Given the description of an element on the screen output the (x, y) to click on. 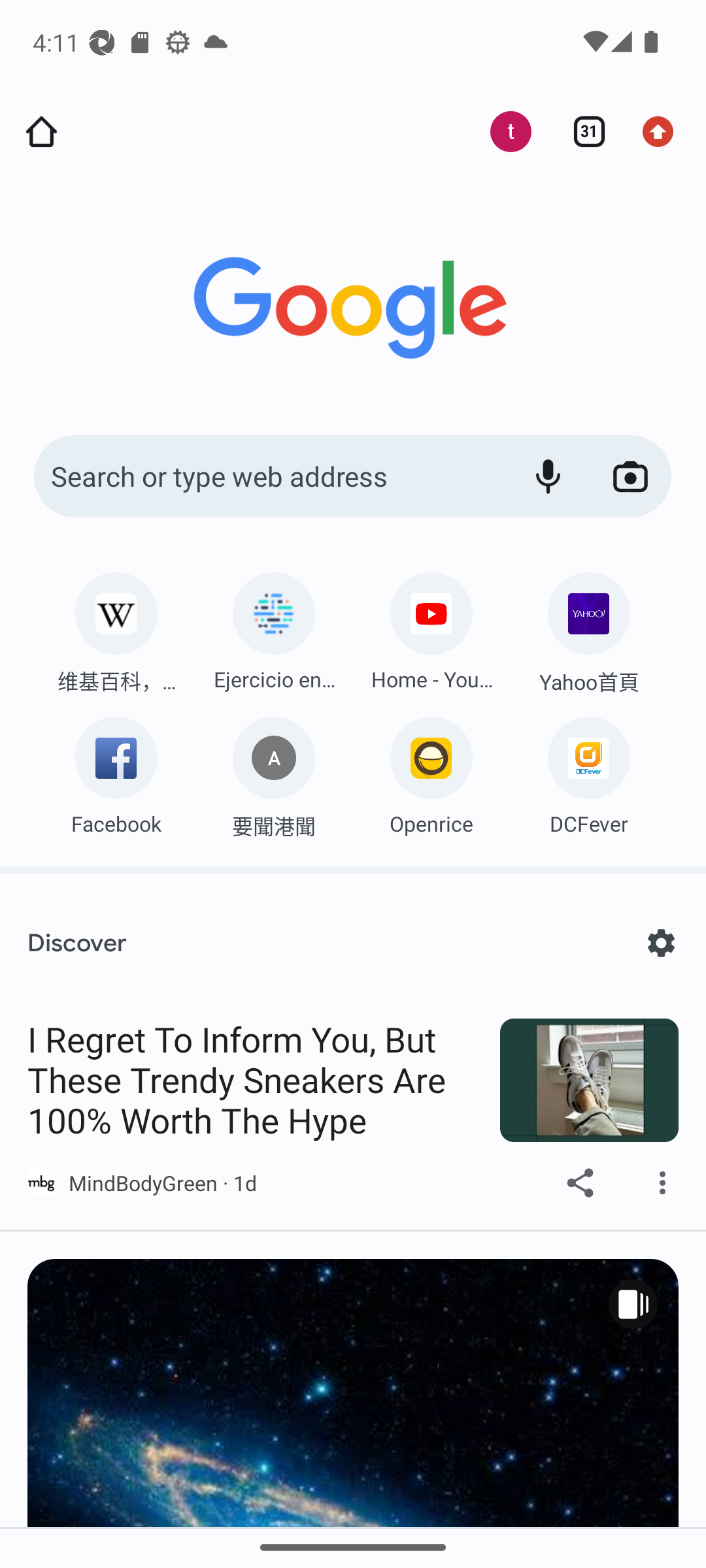
Home (41, 131)
Manage account (499, 131)
Switch or close tabs (582, 131)
Update available. More options (664, 131)
Search or type web address (267, 476)
Start voice search (547, 476)
Search with your camera using Google Lens (629, 476)
维基百科，自由的百科全书 (116, 627)
Ejercicio en lugares diferentes - Ada (273, 627)
Home - YouTube (430, 627)
Yahoo首頁 (588, 628)
Facebook (116, 771)
要聞港聞 (273, 771)
Openrice (430, 771)
DCFever (588, 771)
Options for Discover (660, 942)
